Given the description of an element on the screen output the (x, y) to click on. 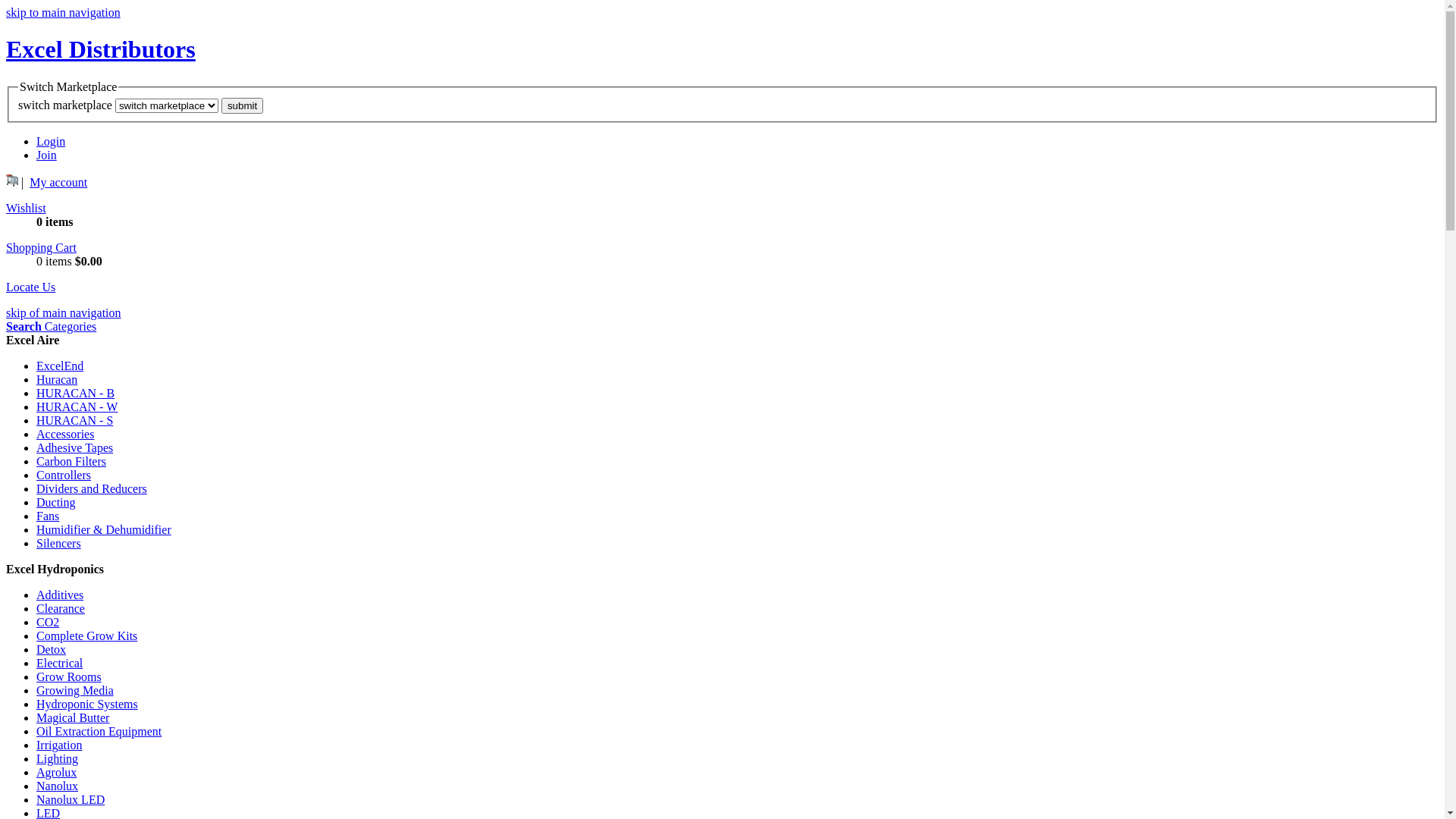
Grow Rooms Element type: text (68, 676)
Wishlist Element type: text (26, 207)
Clearance Element type: text (60, 608)
Ducting Element type: text (55, 501)
Join Element type: text (46, 154)
submit Element type: text (242, 105)
skip to main navigation Element type: text (63, 12)
Accessories Element type: text (65, 433)
Excel Distributors Element type: text (100, 48)
Complete Grow Kits Element type: text (86, 635)
Login Element type: text (50, 140)
Magical Butter Element type: text (72, 717)
Fans Element type: text (47, 515)
Controllers Element type: text (63, 474)
HURACAN - B Element type: text (75, 392)
Search Categories Element type: text (51, 326)
Humidifier & Dehumidifier Element type: text (103, 529)
Locate Us Element type: text (30, 286)
HURACAN - S Element type: text (74, 420)
HURACAN - W Element type: text (76, 406)
My account Element type: text (58, 181)
Nanolux LED Element type: text (70, 799)
Detox Element type: text (50, 649)
Lighting Element type: text (57, 758)
Shopping Cart Element type: text (41, 247)
Growing Media Element type: text (74, 690)
Huracan Element type: text (56, 379)
Electrical Element type: text (59, 662)
Additives Element type: text (59, 594)
ExcelEnd Element type: text (59, 365)
Nanolux Element type: text (57, 785)
Oil Extraction Equipment Element type: text (98, 730)
CO2 Element type: text (47, 621)
skip of main navigation Element type: text (63, 312)
Irrigation Element type: text (58, 744)
Dividers and Reducers Element type: text (91, 488)
Silencers Element type: text (58, 542)
Agrolux Element type: text (56, 771)
Carbon Filters Element type: text (71, 461)
Adhesive Tapes Element type: text (74, 447)
Hydroponic Systems Element type: text (87, 703)
